Given the description of an element on the screen output the (x, y) to click on. 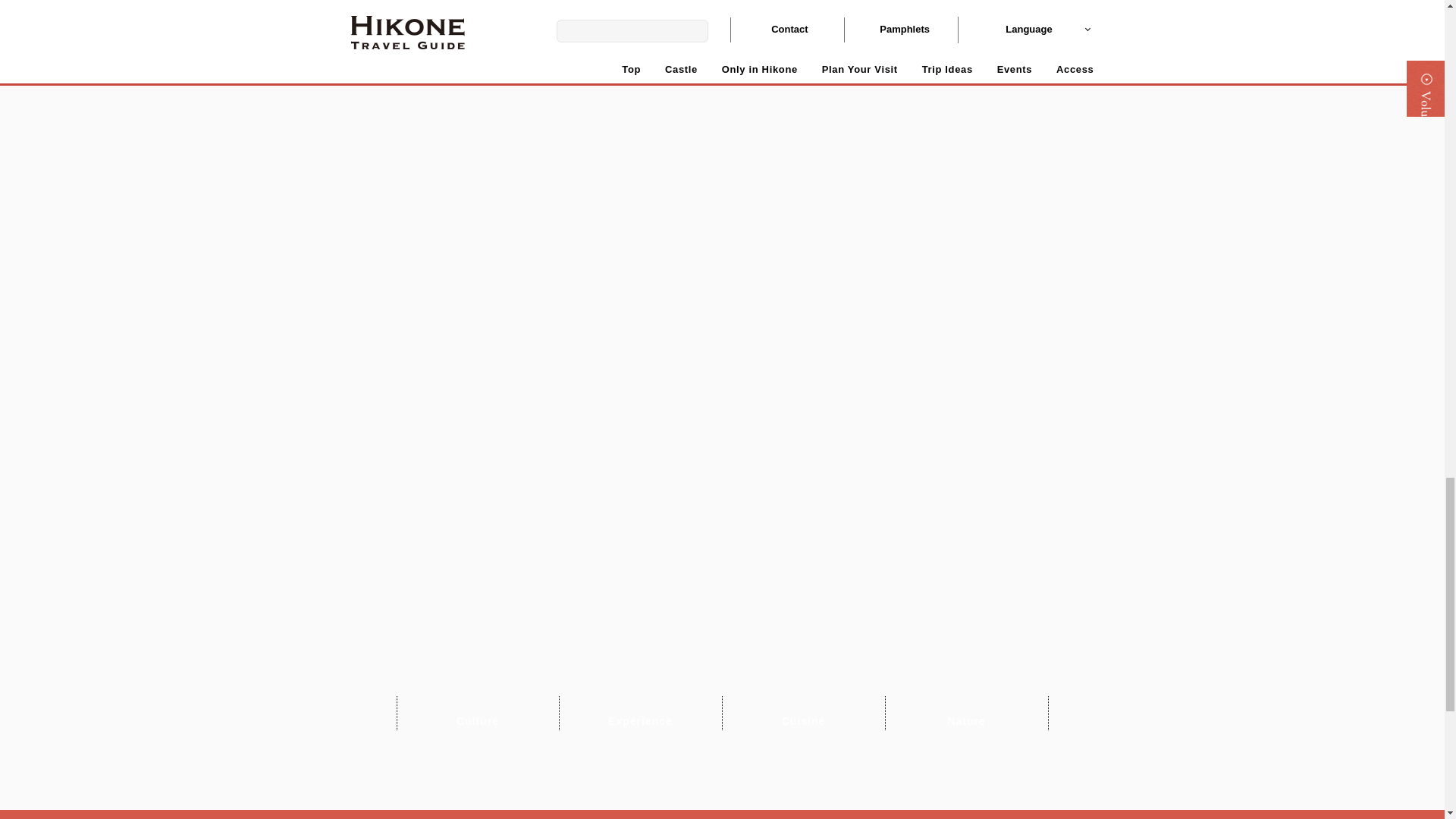
Experience (640, 713)
Culture (477, 713)
Nature (966, 713)
Cuisine (803, 713)
